Given the description of an element on the screen output the (x, y) to click on. 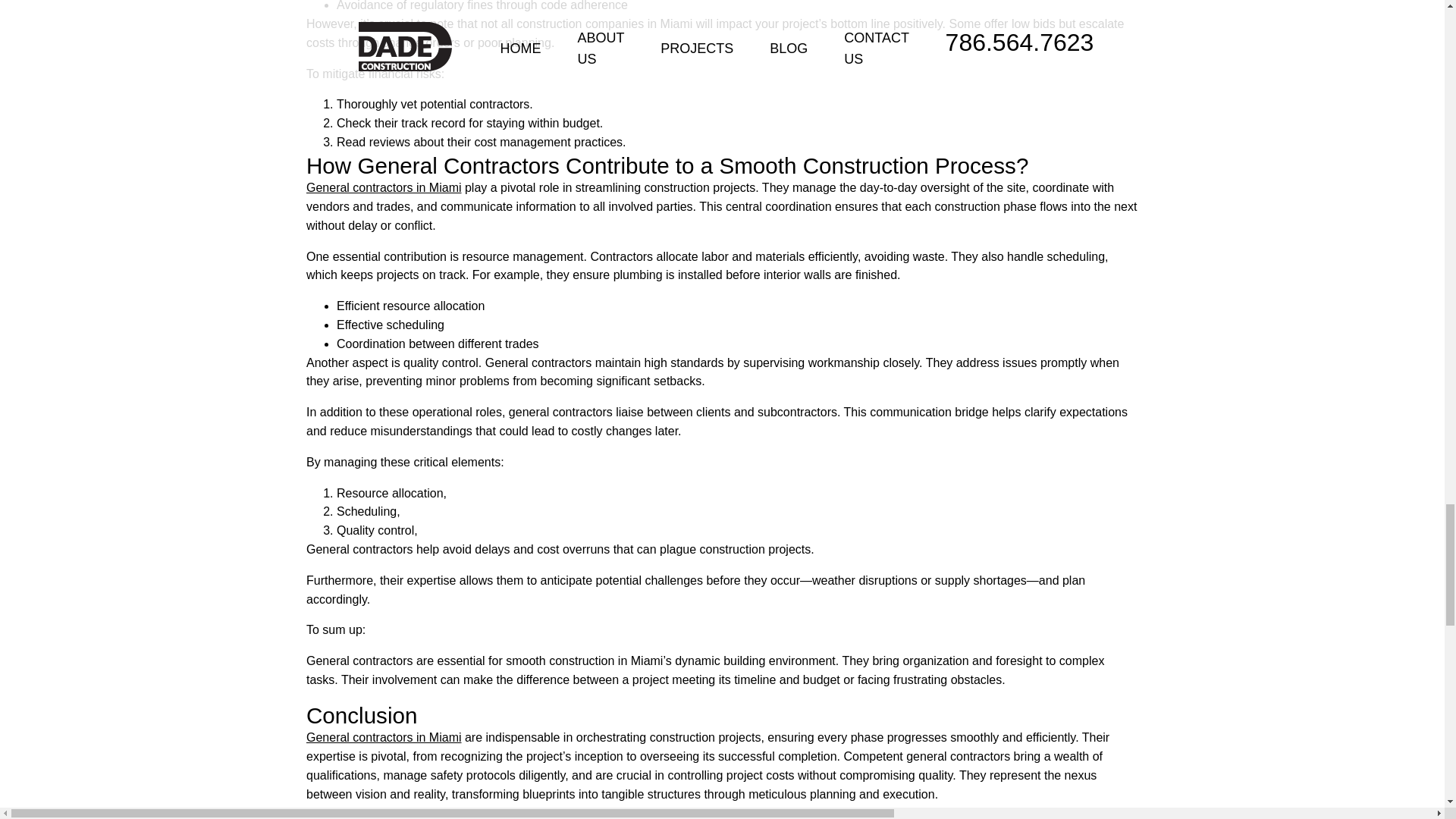
General contractors in Miami (383, 187)
General contractors in Miami (383, 737)
